Given the description of an element on the screen output the (x, y) to click on. 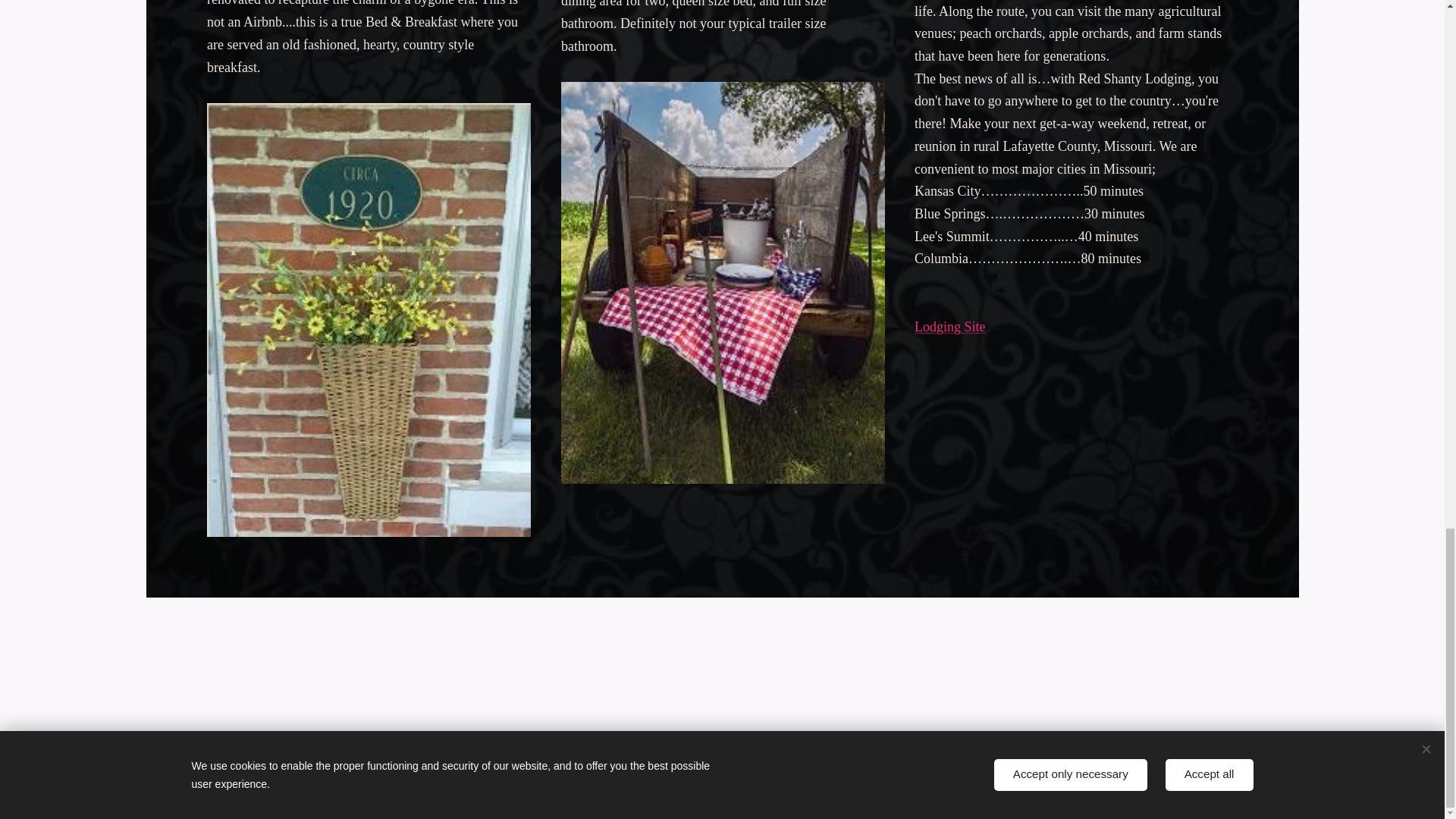
Lodging Site (949, 326)
